Given the description of an element on the screen output the (x, y) to click on. 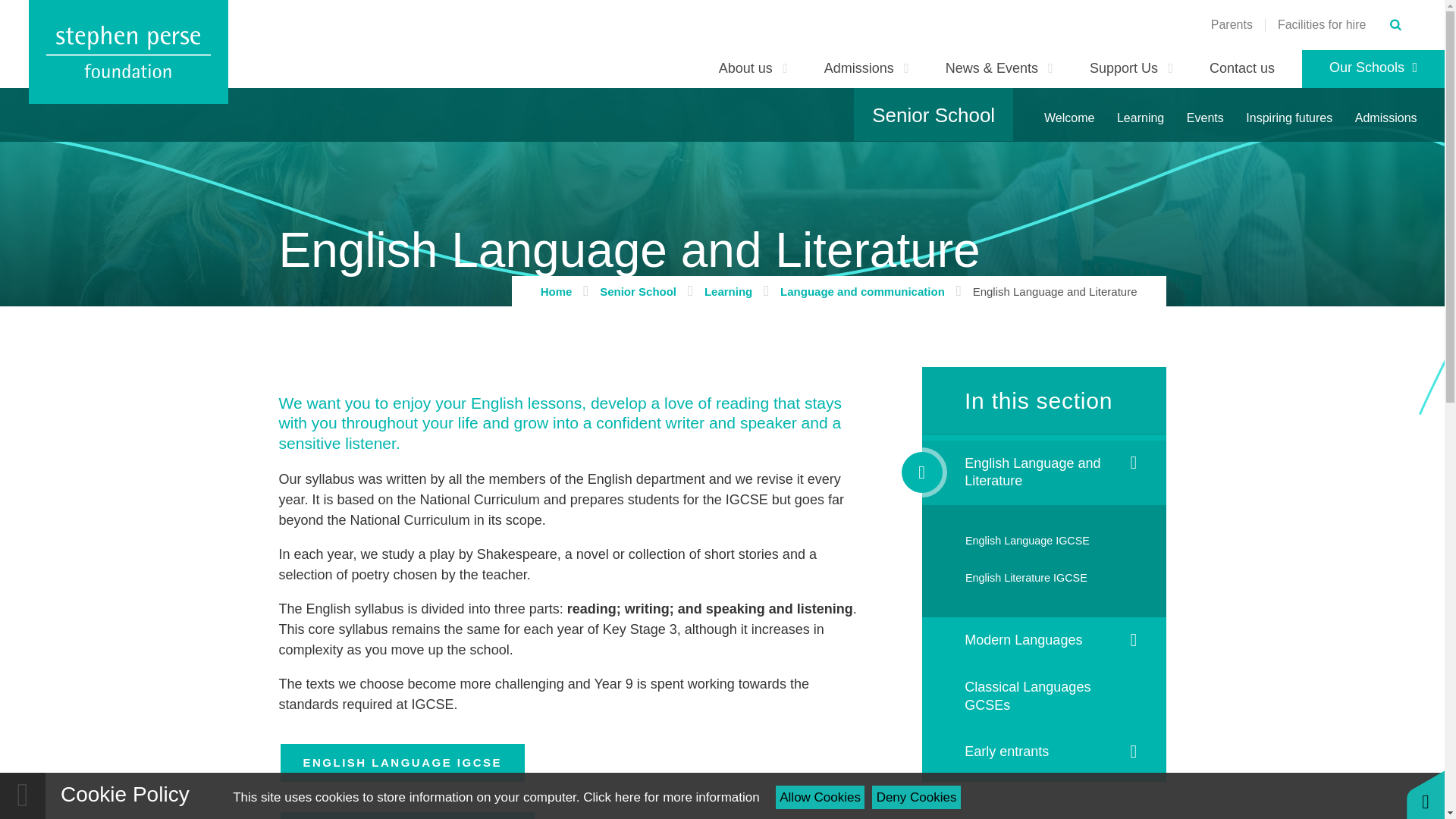
home (128, 52)
Admissions (866, 67)
Facilities for hire (1321, 24)
See cookie policy (670, 797)
Parents (1231, 24)
About us (753, 67)
